Given the description of an element on the screen output the (x, y) to click on. 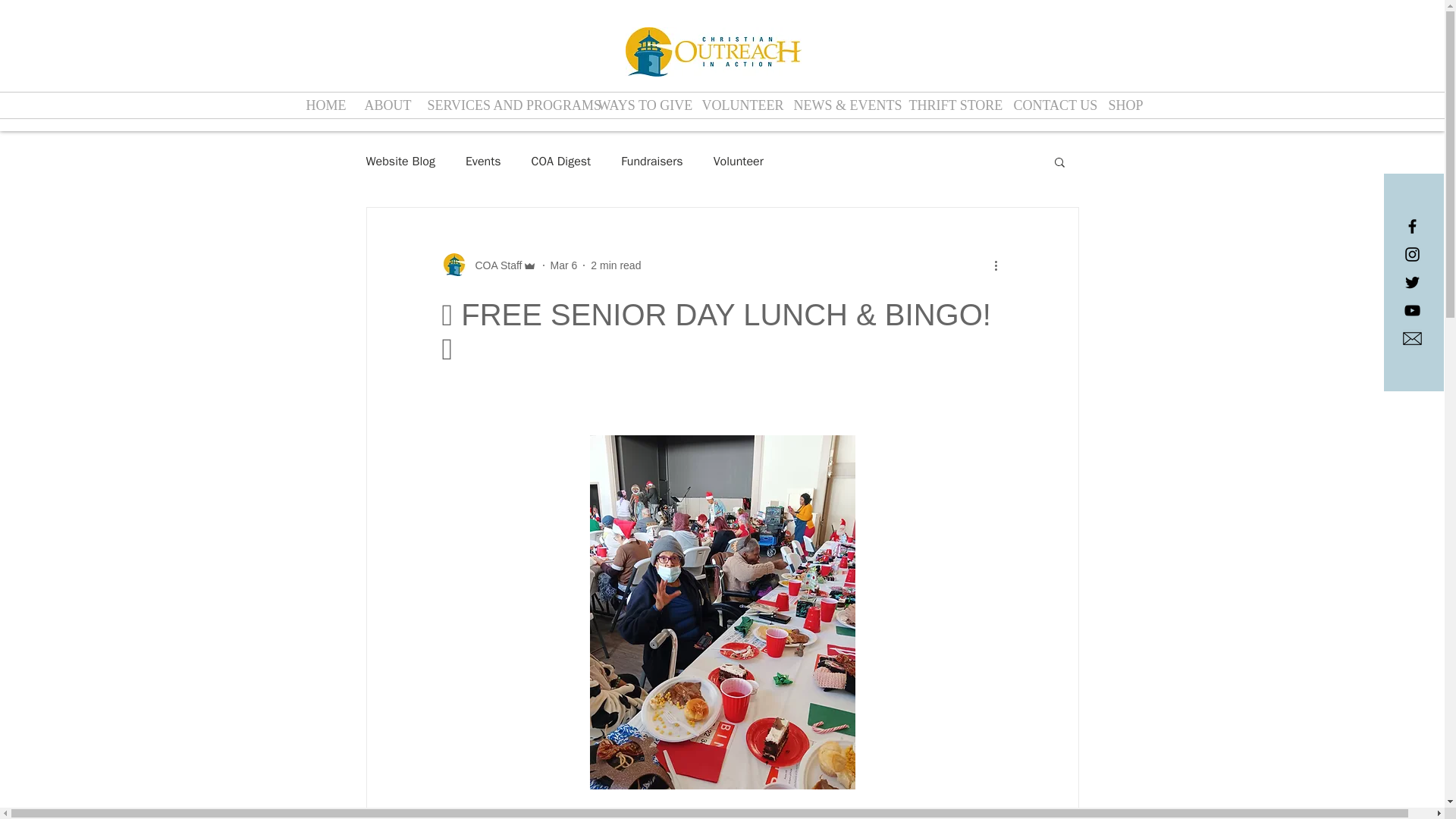
Mar 6 (564, 265)
THRIFT STORE (950, 104)
2 min read (615, 265)
WAYS TO GIVE (638, 104)
COA Staff (488, 265)
COA Digest (561, 160)
Volunteer (737, 160)
Fundraisers (651, 160)
SHOP (1123, 104)
Events (482, 160)
CONTACT US (1050, 104)
VOLUNTEER (735, 104)
ABOUT (384, 104)
COA Staff (493, 265)
Website Blog (399, 160)
